Given the description of an element on the screen output the (x, y) to click on. 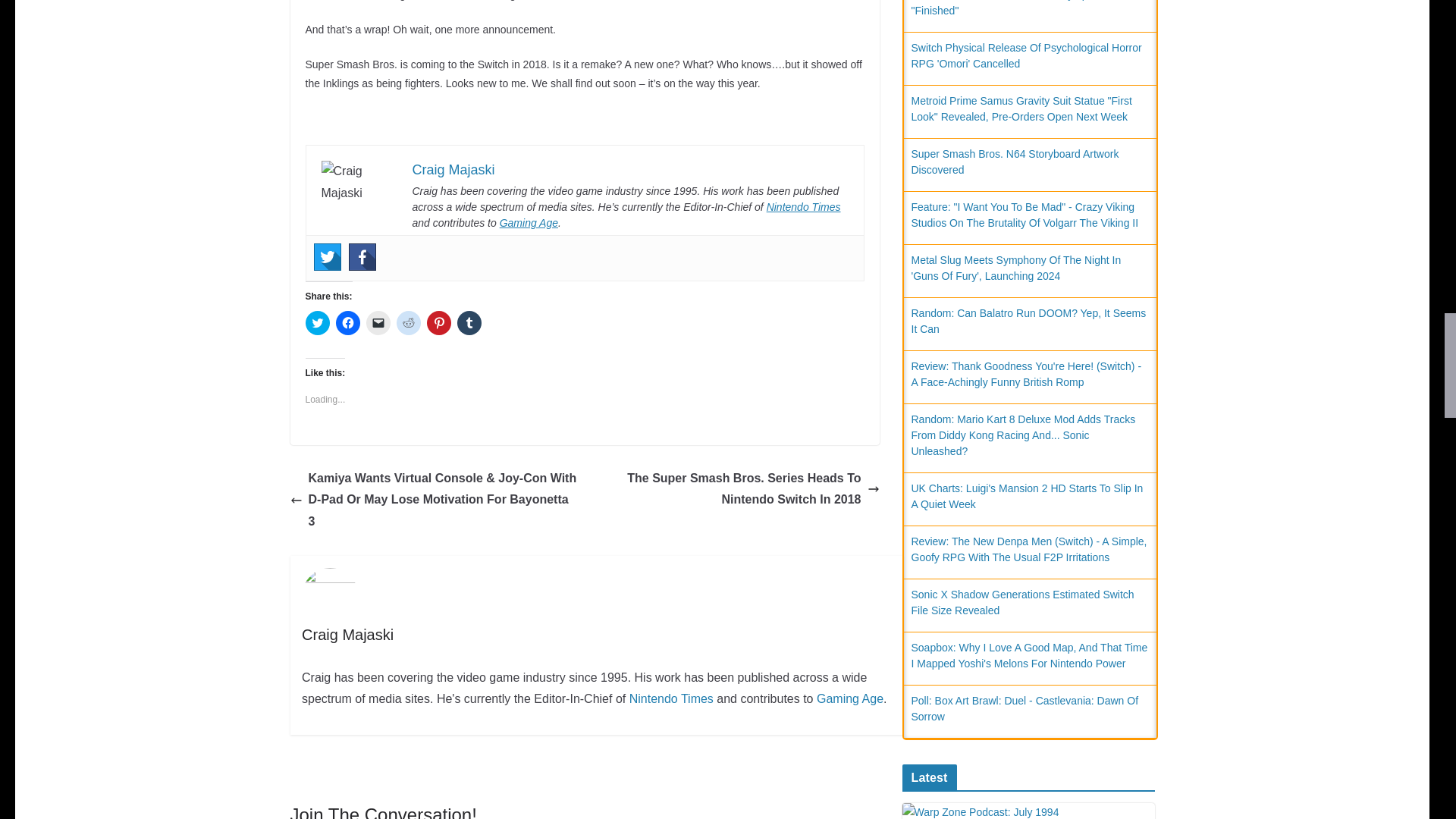
Click to share on Twitter (316, 322)
Craig Majaski (453, 169)
Twitter (327, 257)
Click to share on Pinterest (437, 322)
Nintendo Times (804, 206)
Facebook (362, 257)
Click to share on Facebook (346, 322)
Click to share on Tumblr (468, 322)
Click to email a link to a friend (377, 322)
Click to share on Reddit (408, 322)
Gaming Age (528, 223)
